Given the description of an element on the screen output the (x, y) to click on. 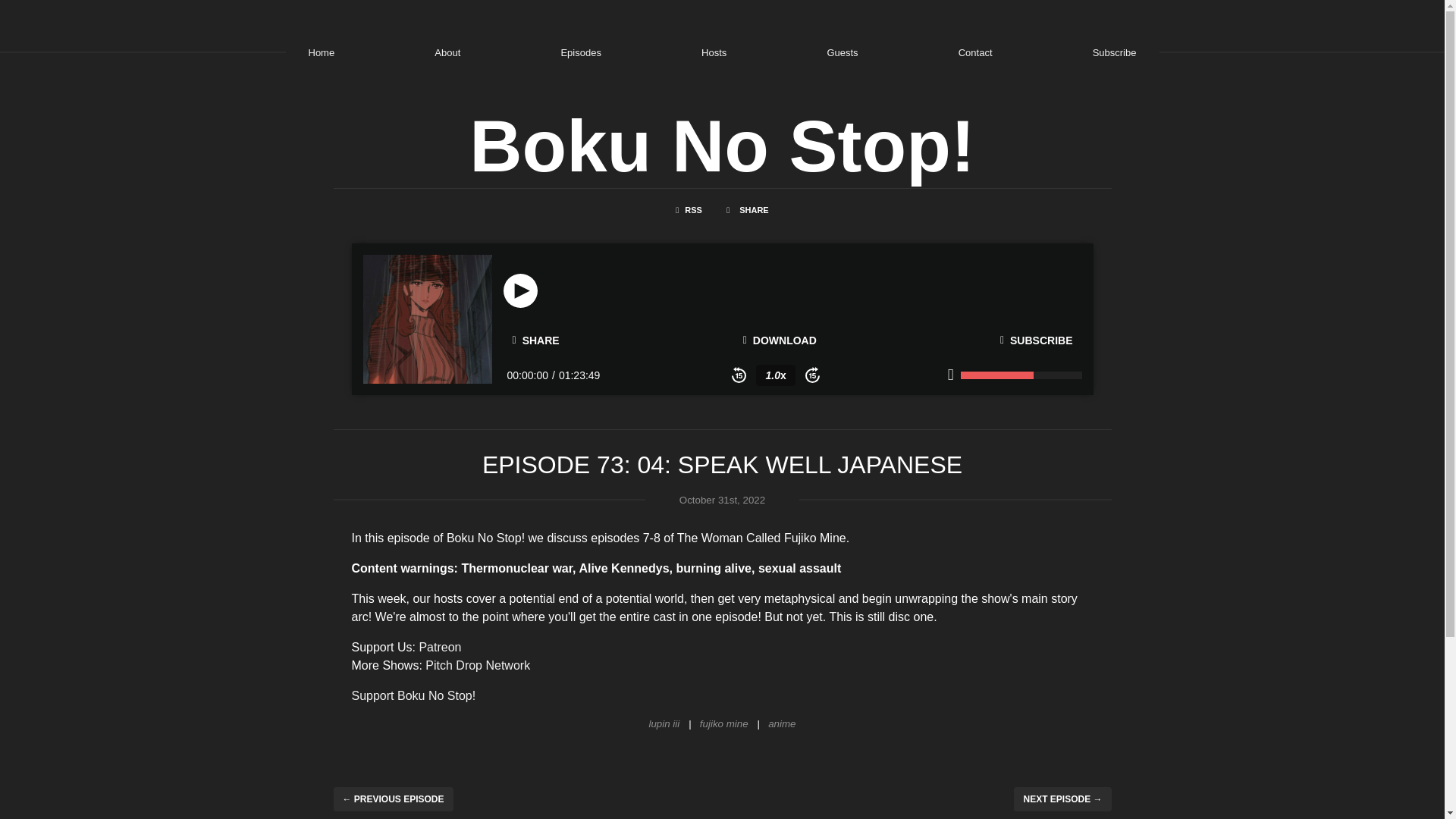
SHARE (536, 340)
Episodes (579, 52)
Home (320, 52)
DOWNLOAD (779, 339)
SUBSCRIBE (1036, 339)
About (446, 52)
Pitch Drop Network (477, 664)
Subscribe (1115, 52)
Contact (975, 52)
anime (776, 722)
